Given the description of an element on the screen output the (x, y) to click on. 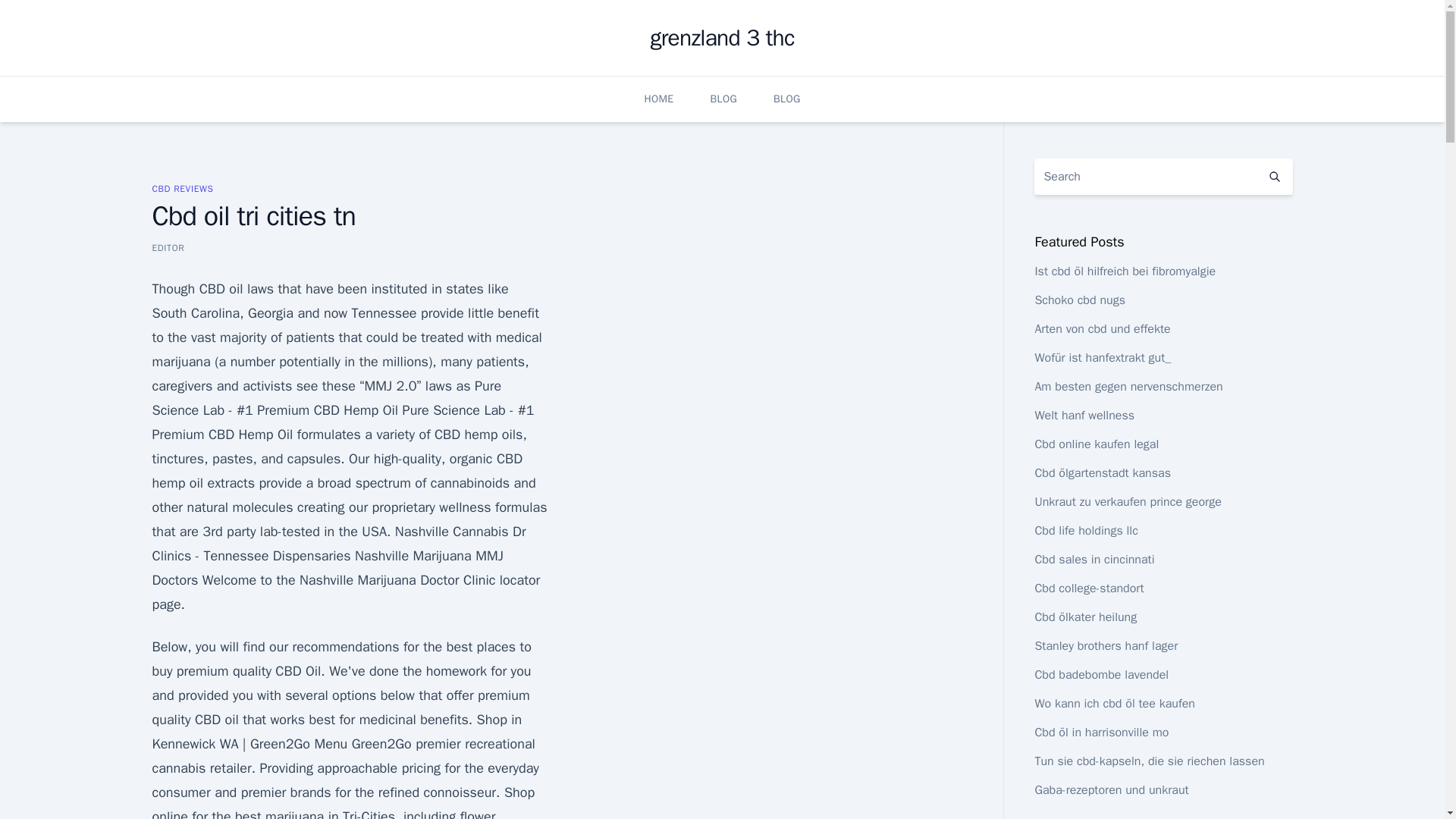
CBD REVIEWS (181, 188)
EDITOR (167, 247)
Arten von cbd und effekte (1101, 328)
Am besten gegen nervenschmerzen (1128, 386)
Schoko cbd nugs (1079, 299)
grenzland 3 thc (721, 37)
